Given the description of an element on the screen output the (x, y) to click on. 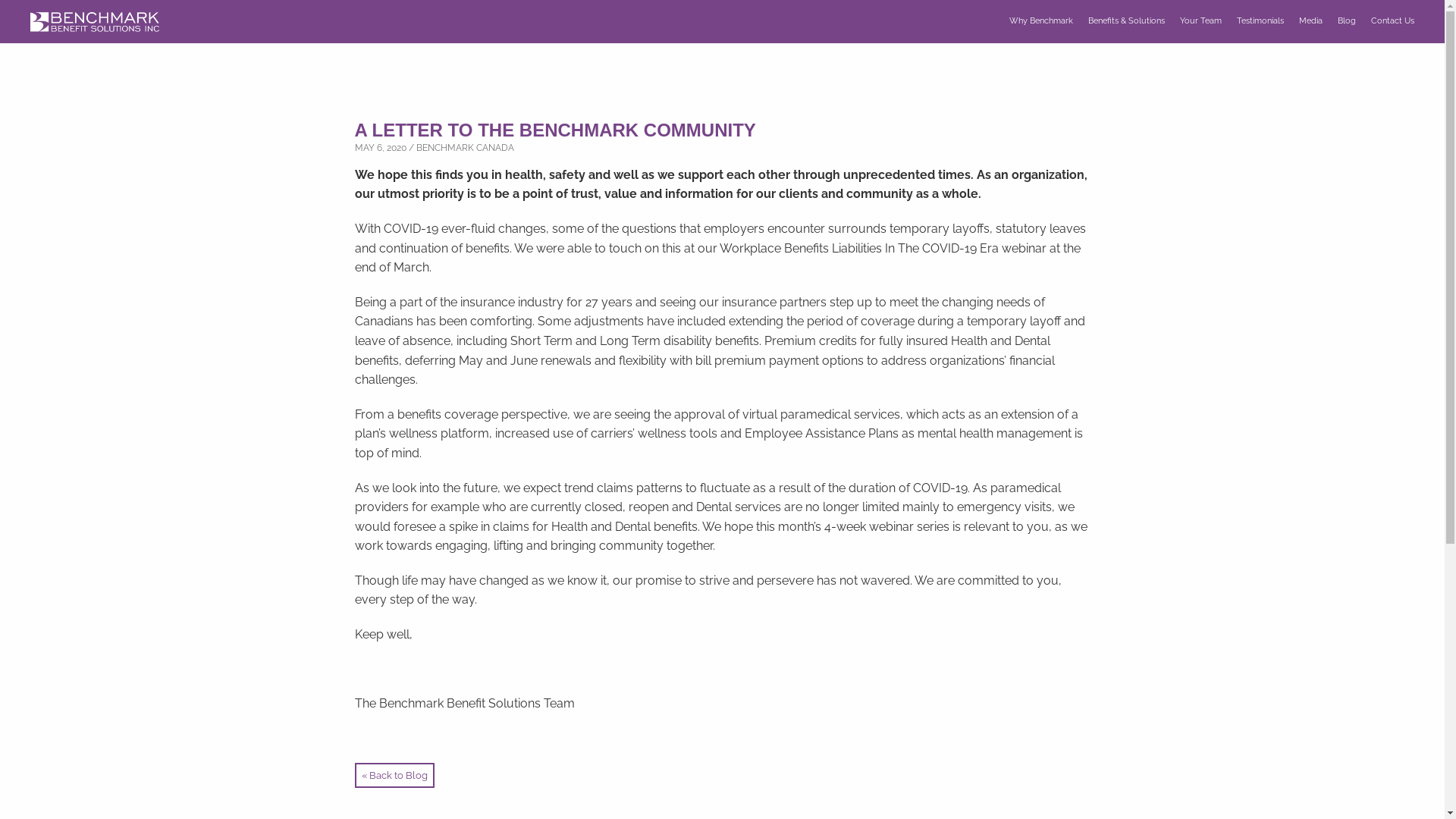
Blog Element type: text (1346, 20)
Benefits & Solutions Element type: text (1126, 20)
Why Benchmark Element type: text (1041, 20)
Your Team Element type: text (1200, 20)
Contact Us Element type: text (1392, 20)
Testimonials Element type: text (1259, 20)
Media Element type: text (1310, 20)
